Given the description of an element on the screen output the (x, y) to click on. 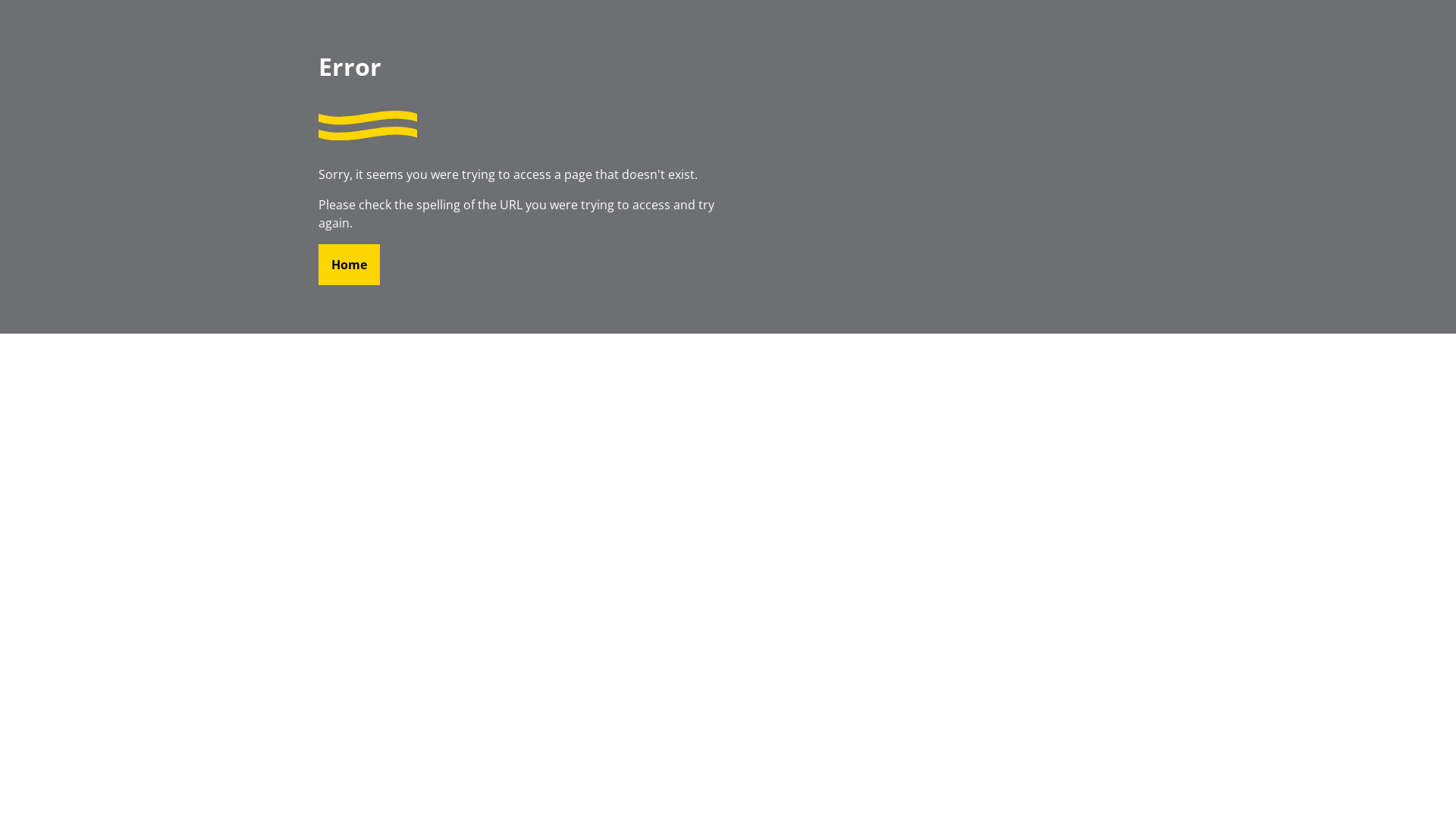
Home Element type: text (348, 264)
